Given the description of an element on the screen output the (x, y) to click on. 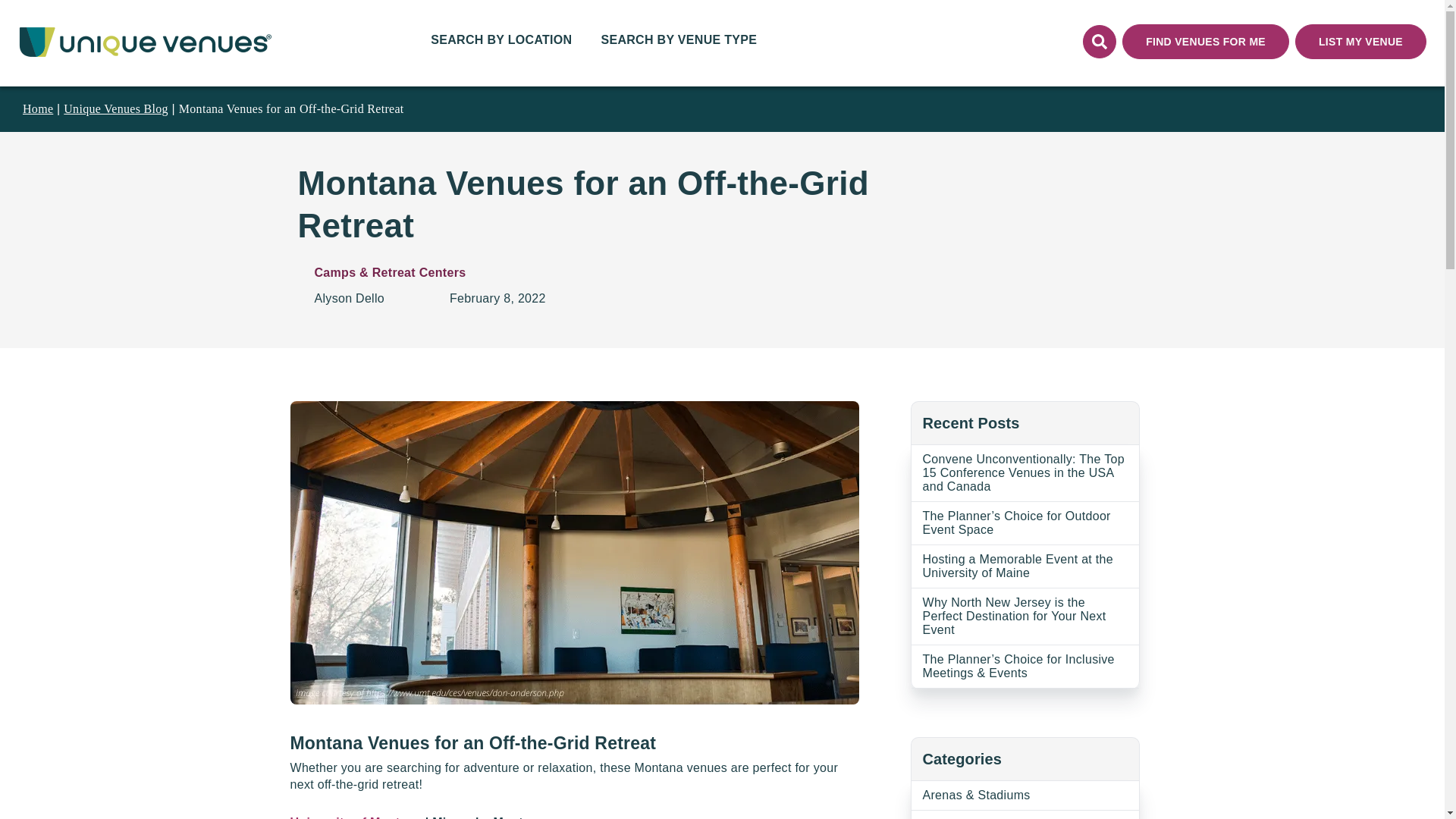
List My Venues (1360, 41)
SEARCH BY LOCATION (501, 43)
Find Venues For Me (1205, 41)
Unique Venues (148, 41)
SEARCH BY VENUE TYPE (678, 43)
